Given the description of an element on the screen output the (x, y) to click on. 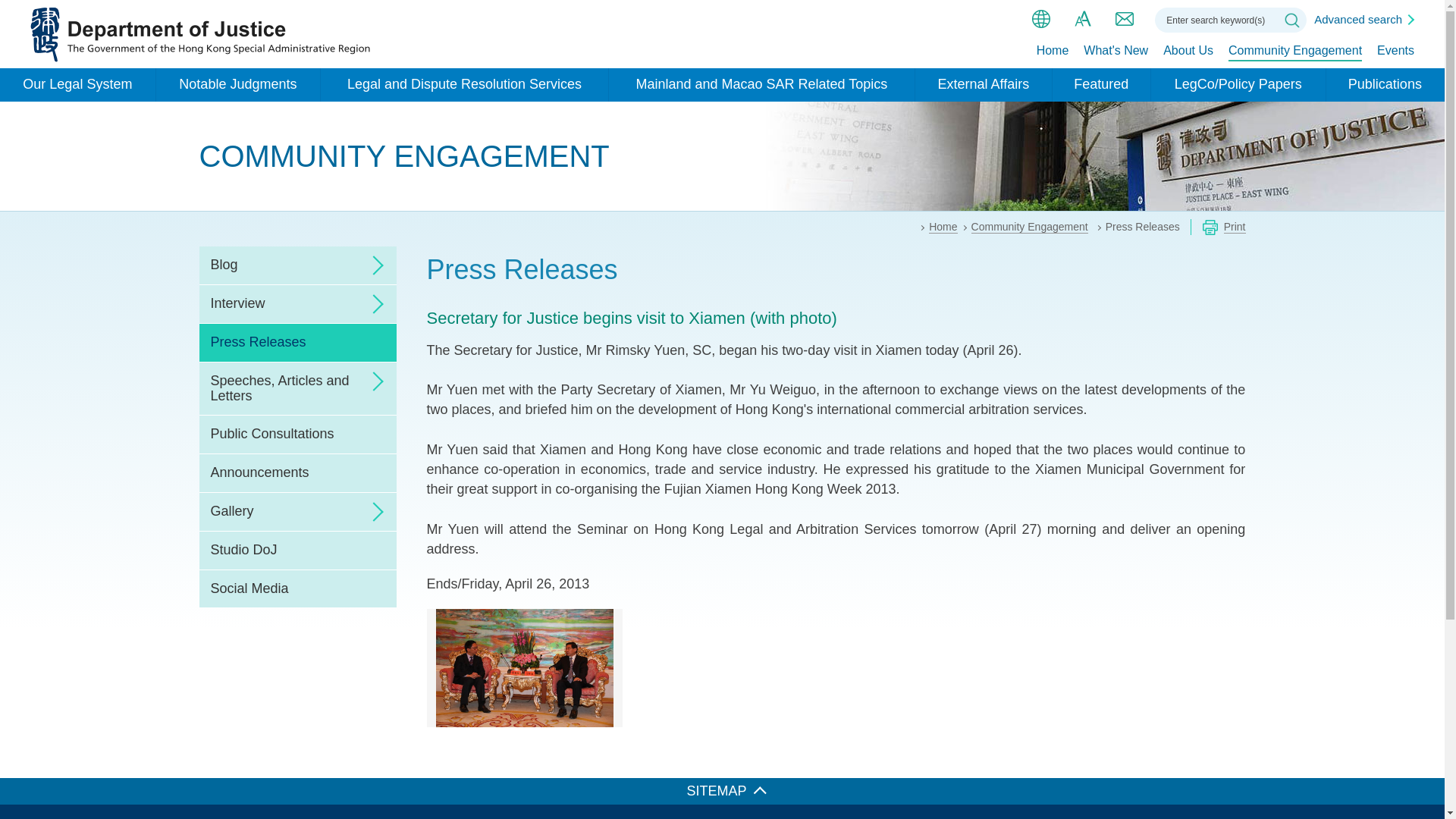
Contact us (1124, 18)
Press Releases (297, 342)
Speeches, Articles and Letters (297, 388)
Blog (297, 265)
Font size (1082, 18)
Interview (297, 303)
language (1040, 18)
